Given the description of an element on the screen output the (x, y) to click on. 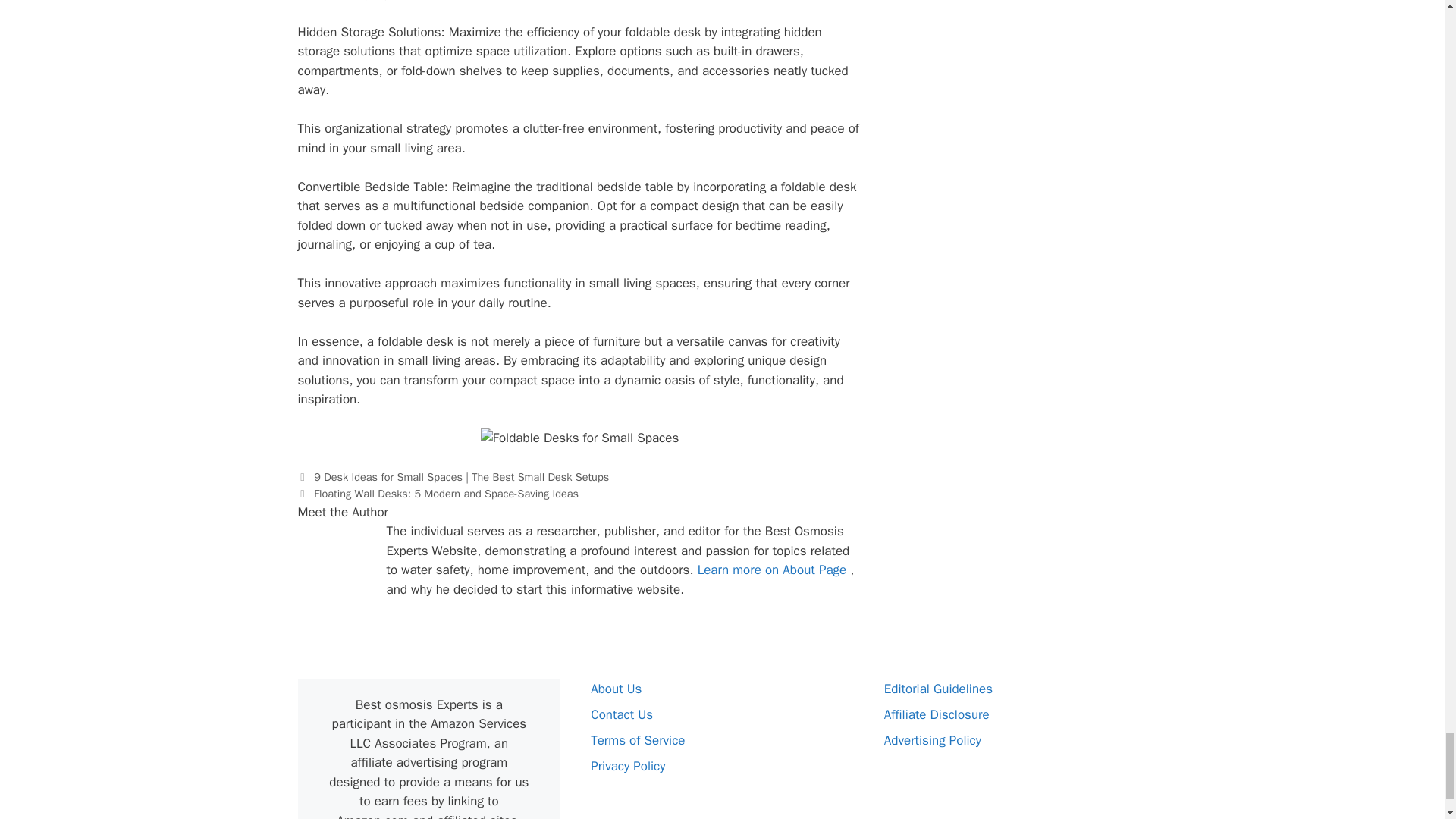
5 Foldable Desks for Small Spaces on Amazon 11 (579, 437)
Learn more on About Page (773, 569)
About Us (616, 688)
Contact Us (621, 714)
Terms of Service (637, 740)
Editorial Guidelines (937, 688)
Affiliate Disclosure (936, 714)
Advertising Policy (932, 740)
Floating Wall Desks: 5 Modern and Space-Saving Ideas (446, 493)
Privacy Policy (628, 765)
